Given the description of an element on the screen output the (x, y) to click on. 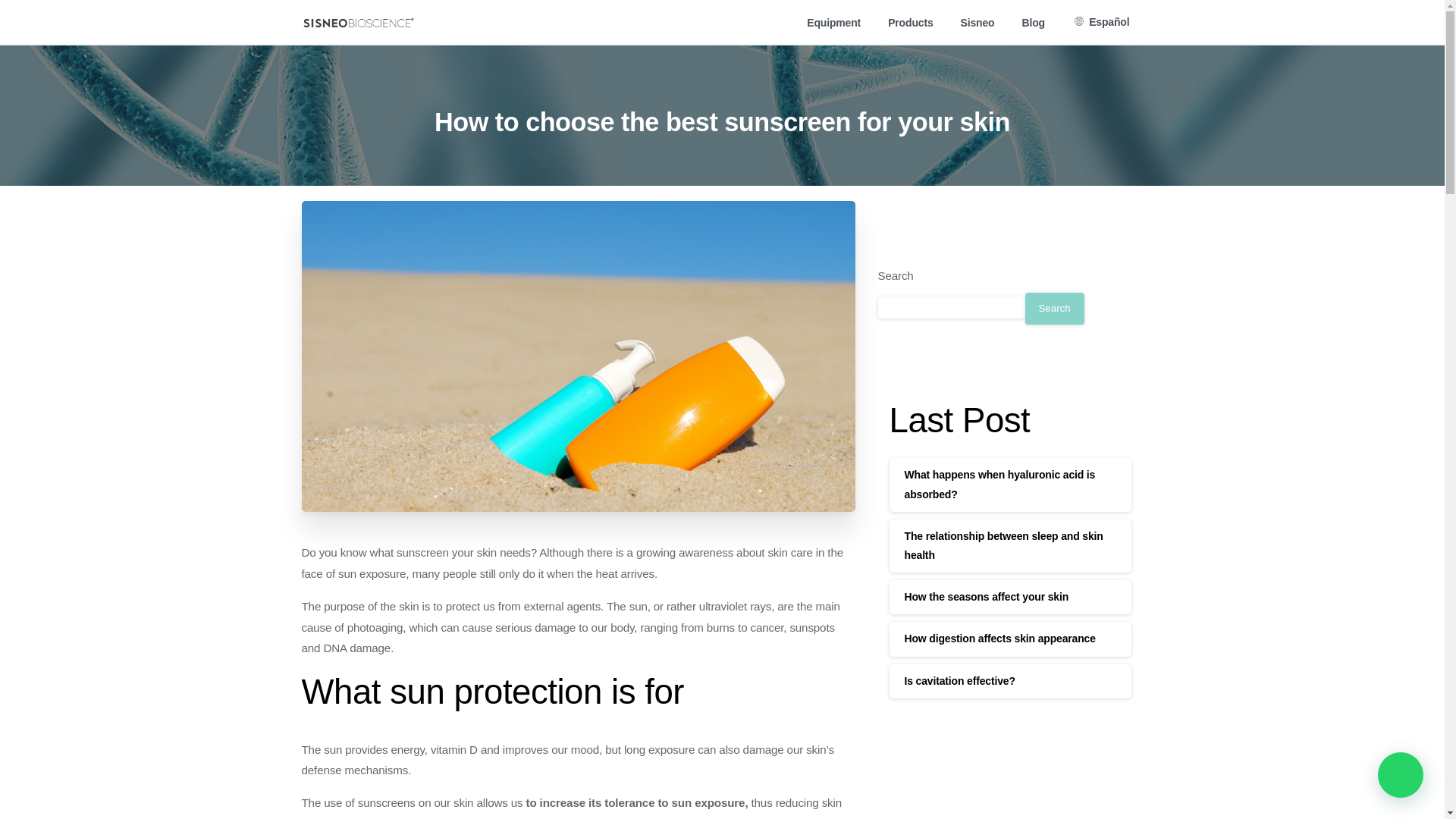
How the seasons affect your skin (986, 596)
How digestion affects skin appearance (999, 638)
Is cavitation effective? (959, 680)
Sisneo (978, 21)
Equipment (833, 21)
Products (910, 21)
What happens when hyaluronic acid is absorbed? (999, 483)
Equipment (833, 21)
The relationship between sleep and skin health (1003, 545)
Search (1054, 308)
